Given the description of an element on the screen output the (x, y) to click on. 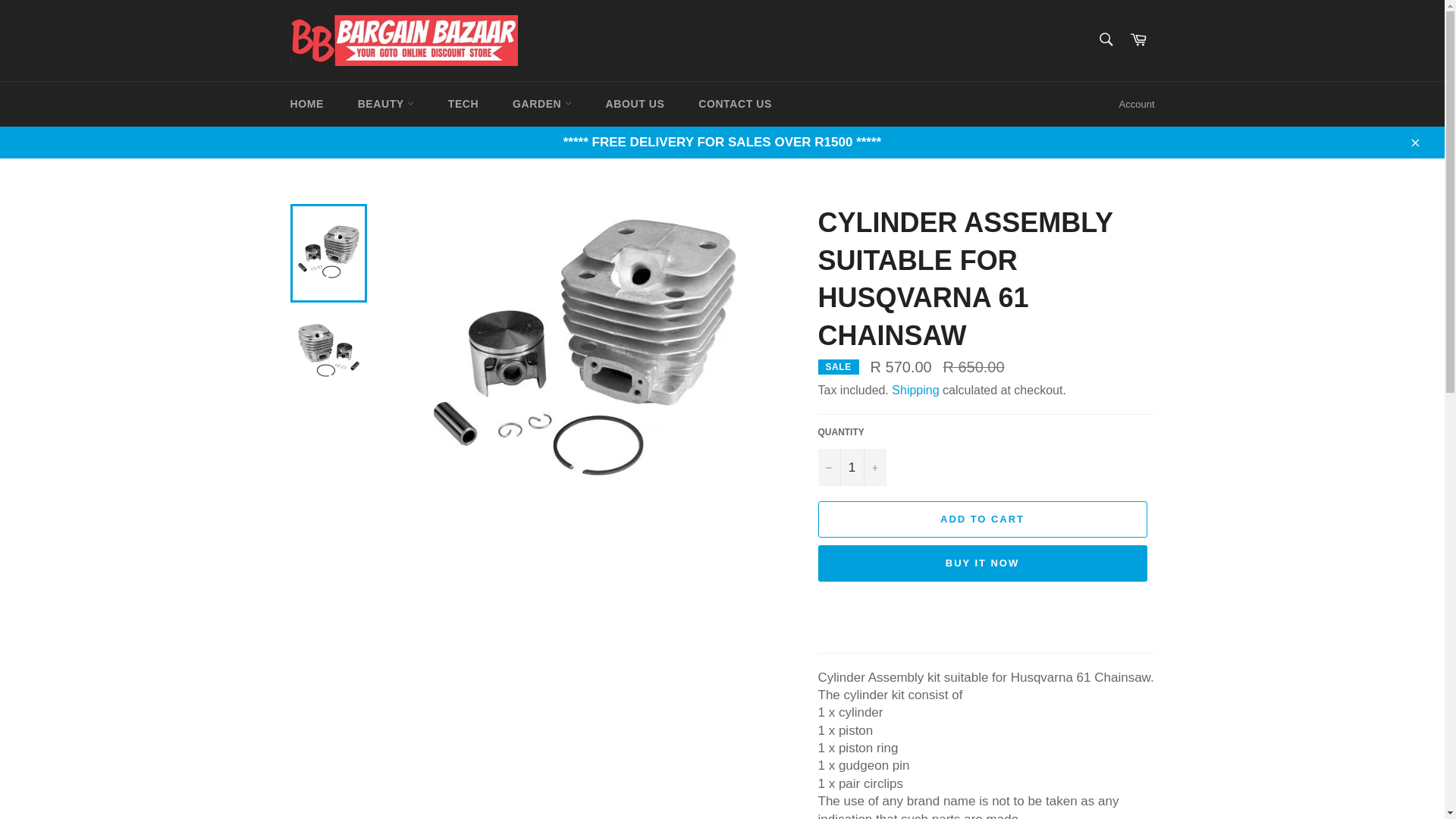
CONTACT US (734, 103)
GARDEN (541, 103)
HOME (306, 103)
BEAUTY (385, 103)
1 (850, 467)
Cart (1138, 40)
ABOUT US (635, 103)
TECH (463, 103)
Search (1104, 39)
